Given the description of an element on the screen output the (x, y) to click on. 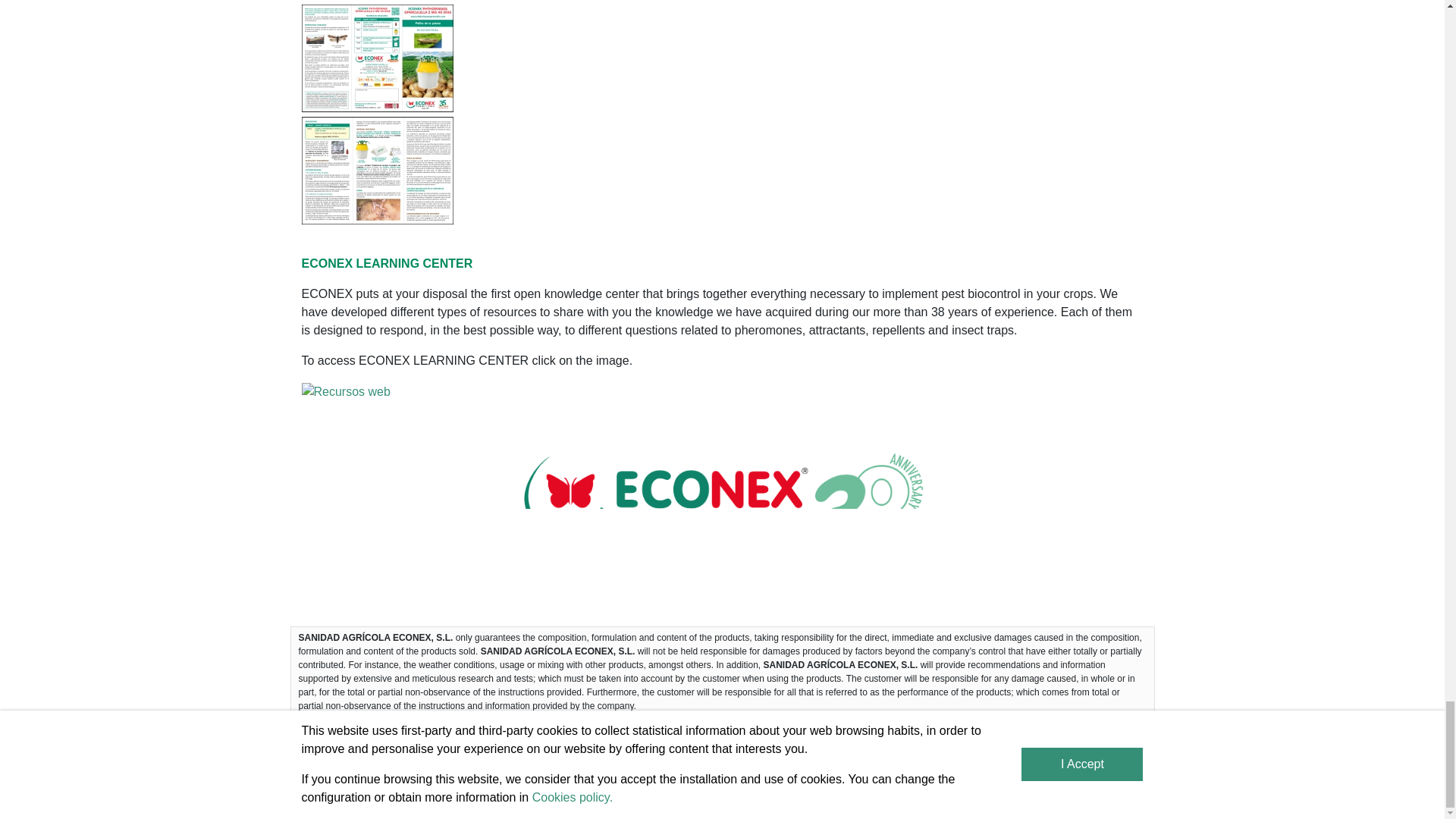
Legal disclaimer (852, 734)
Privacy policy (944, 734)
Cookies (777, 734)
